Given the description of an element on the screen output the (x, y) to click on. 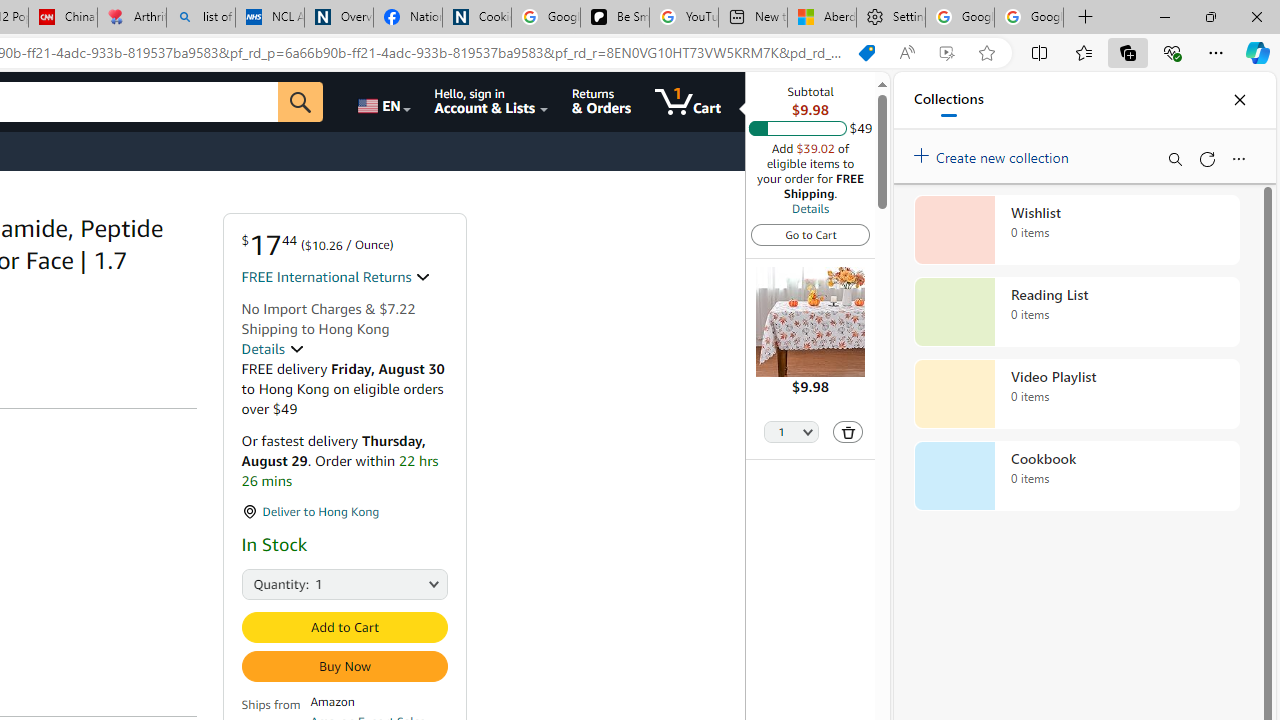
Cookies (476, 17)
Choose a language for shopping. (382, 101)
FREE International Returns  (336, 277)
Wishlist collection, 0 items (1076, 229)
Hello, sign in Account & Lists (491, 101)
Delete (848, 431)
